Given the description of an element on the screen output the (x, y) to click on. 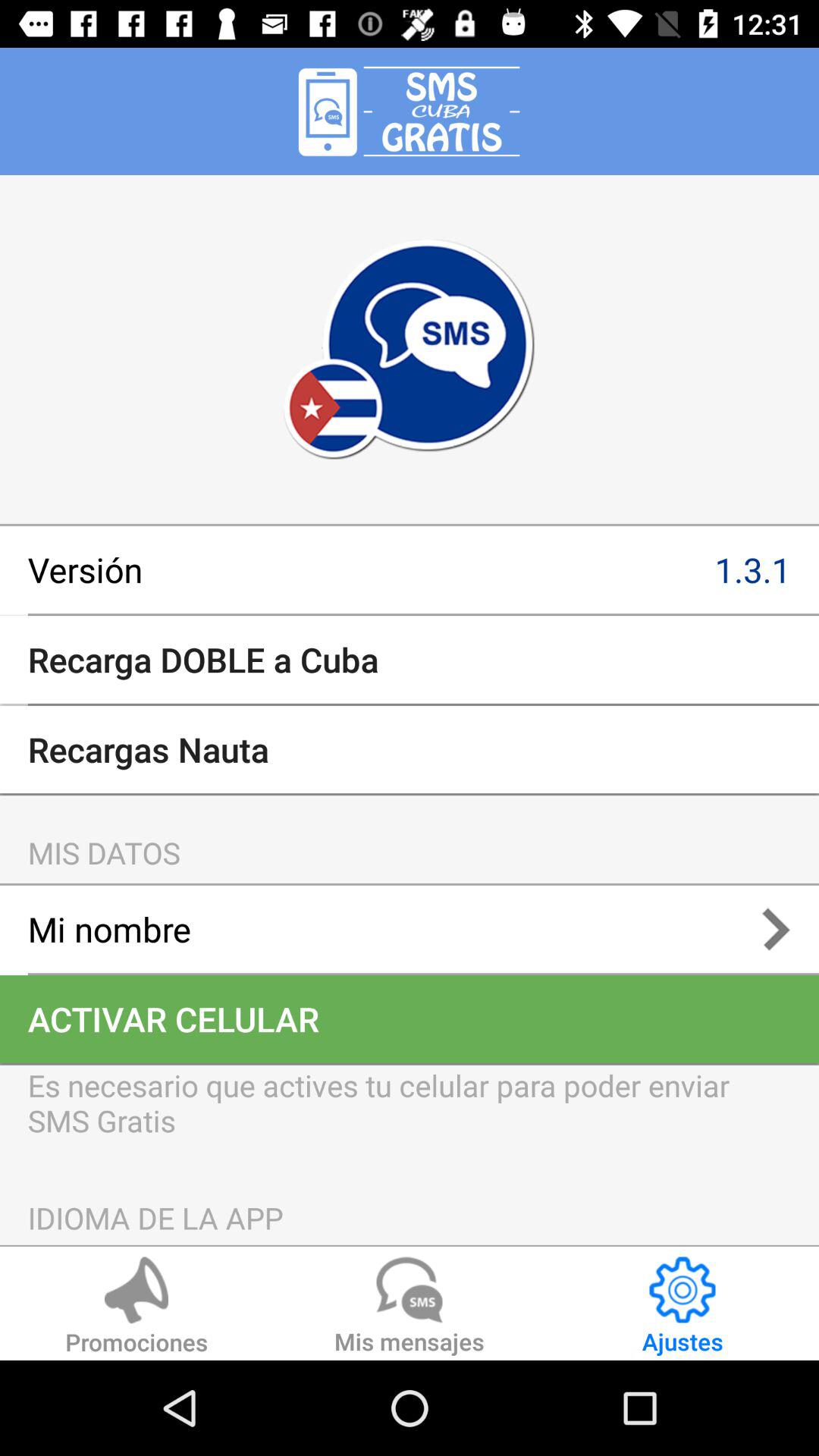
press the item next to ajustes icon (409, 1308)
